Given the description of an element on the screen output the (x, y) to click on. 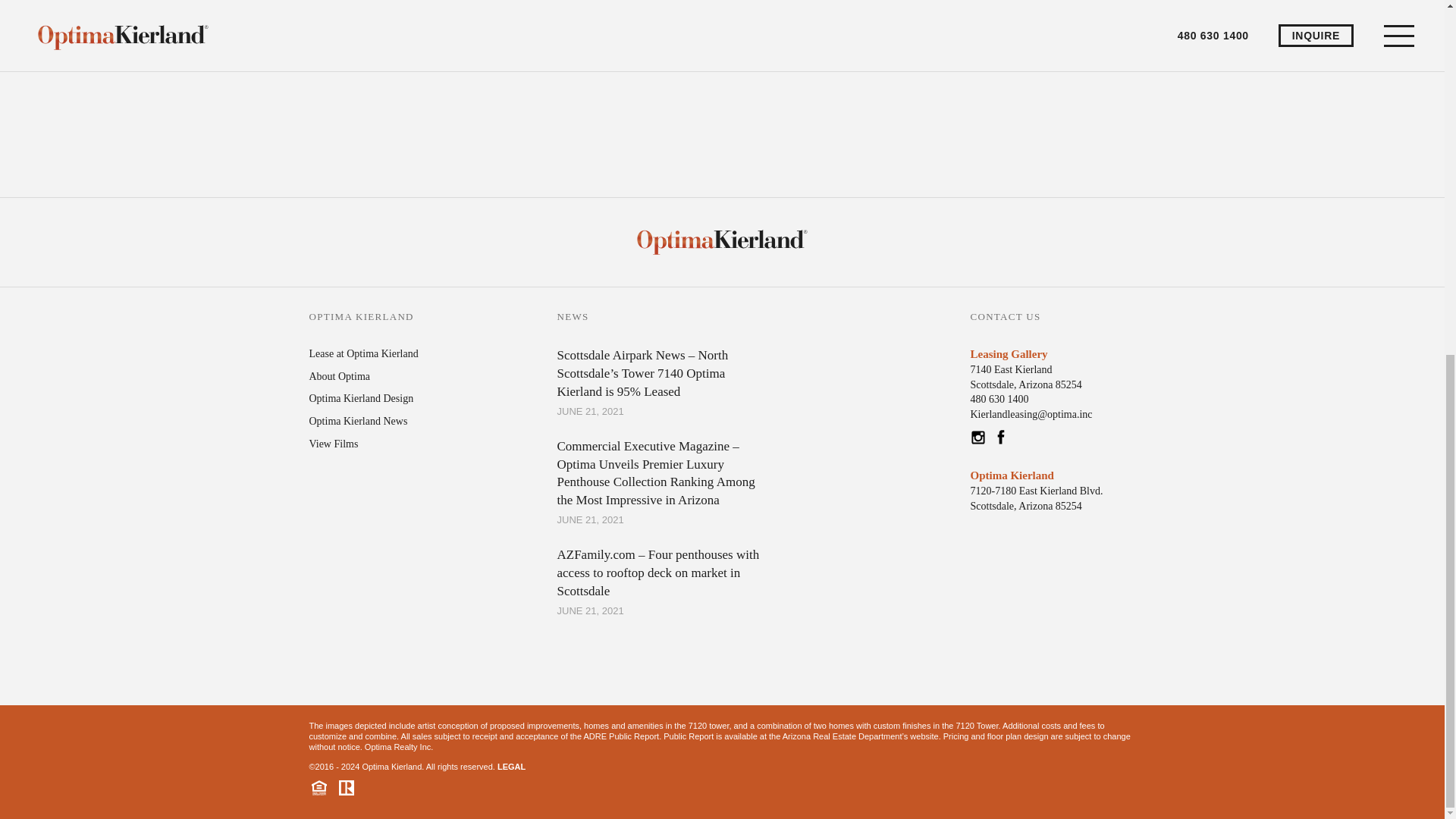
View Films (333, 443)
Optima Kierland Design (360, 398)
LEGAL (1026, 376)
About Optima (511, 766)
Lease at Optima Kierland (339, 376)
Optima Kierland News (363, 353)
